Given the description of an element on the screen output the (x, y) to click on. 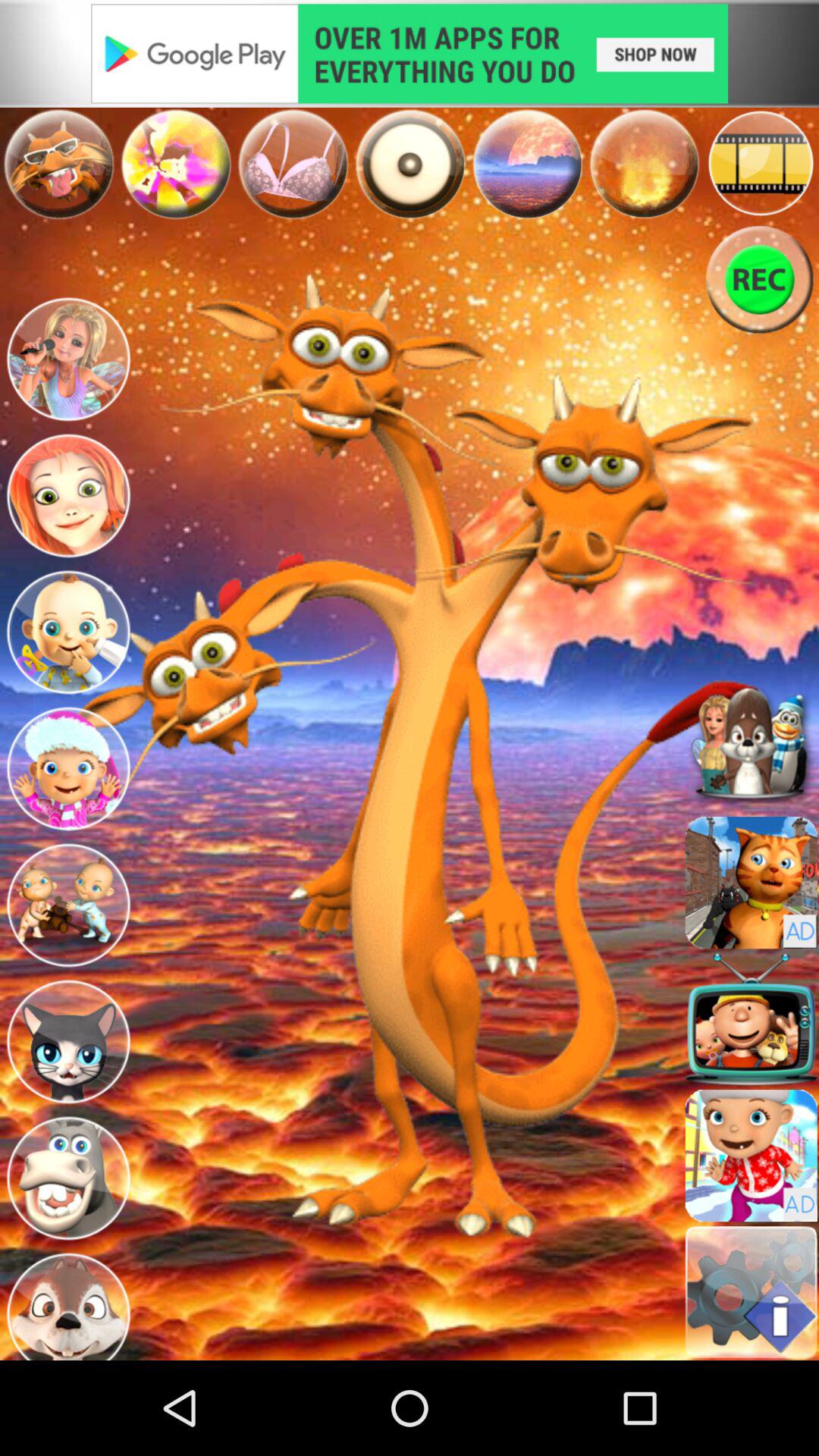
open advertisement (409, 53)
